Given the description of an element on the screen output the (x, y) to click on. 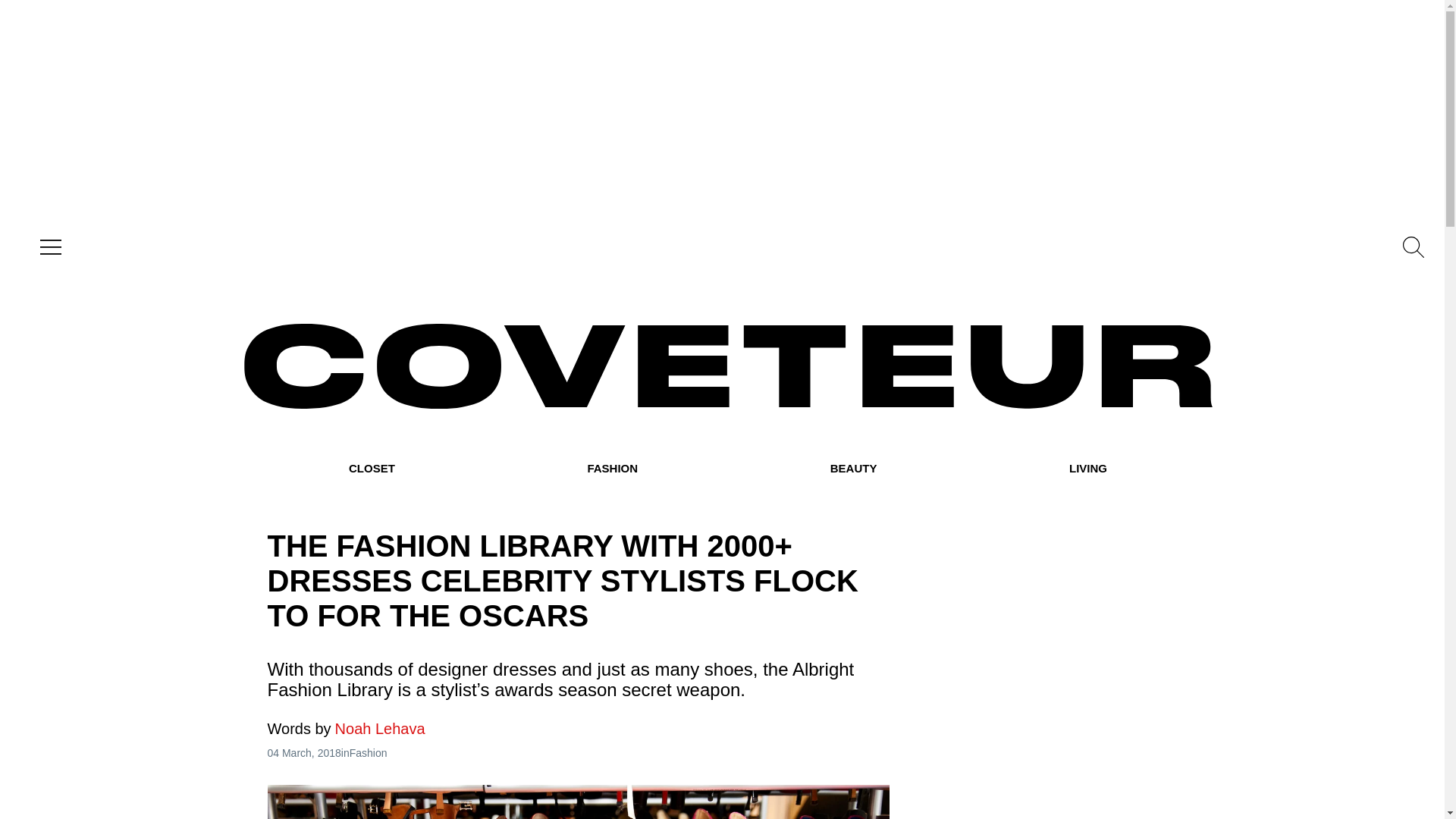
LIVING (1087, 468)
BEAUTY (853, 468)
Noah Lehava (345, 728)
menu (47, 246)
Fashion (368, 752)
FASHION (611, 468)
CLOSET (371, 468)
